Given the description of an element on the screen output the (x, y) to click on. 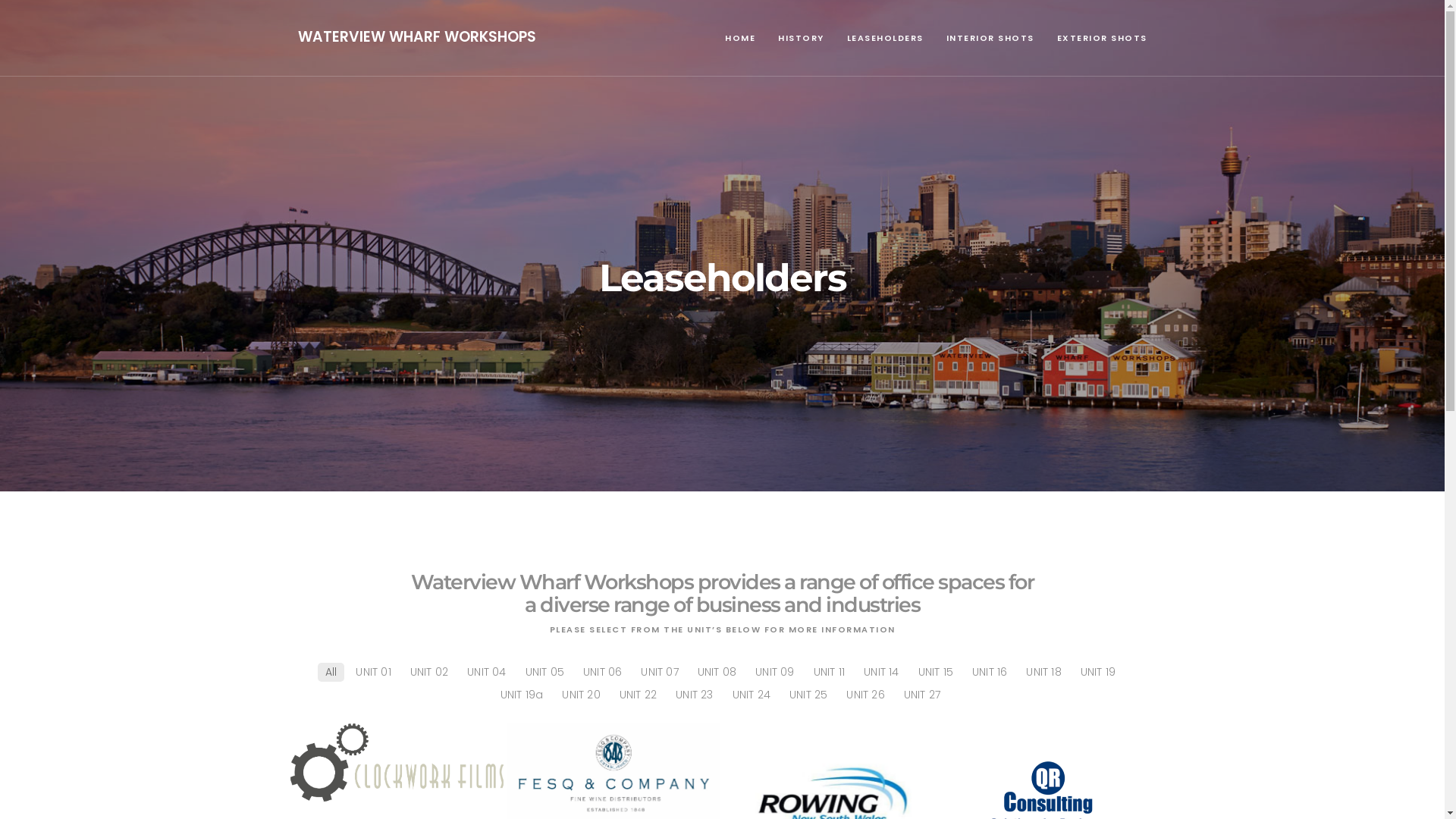
HISTORY Element type: text (800, 37)
LEASEHOLDERS Element type: text (885, 37)
INTERIOR SHOTS Element type: text (989, 37)
WATERVIEW WHARF WORKSHOPS Element type: text (416, 36)
HOME Element type: text (739, 37)
EXTERIOR SHOTS Element type: text (1100, 37)
